Given the description of an element on the screen output the (x, y) to click on. 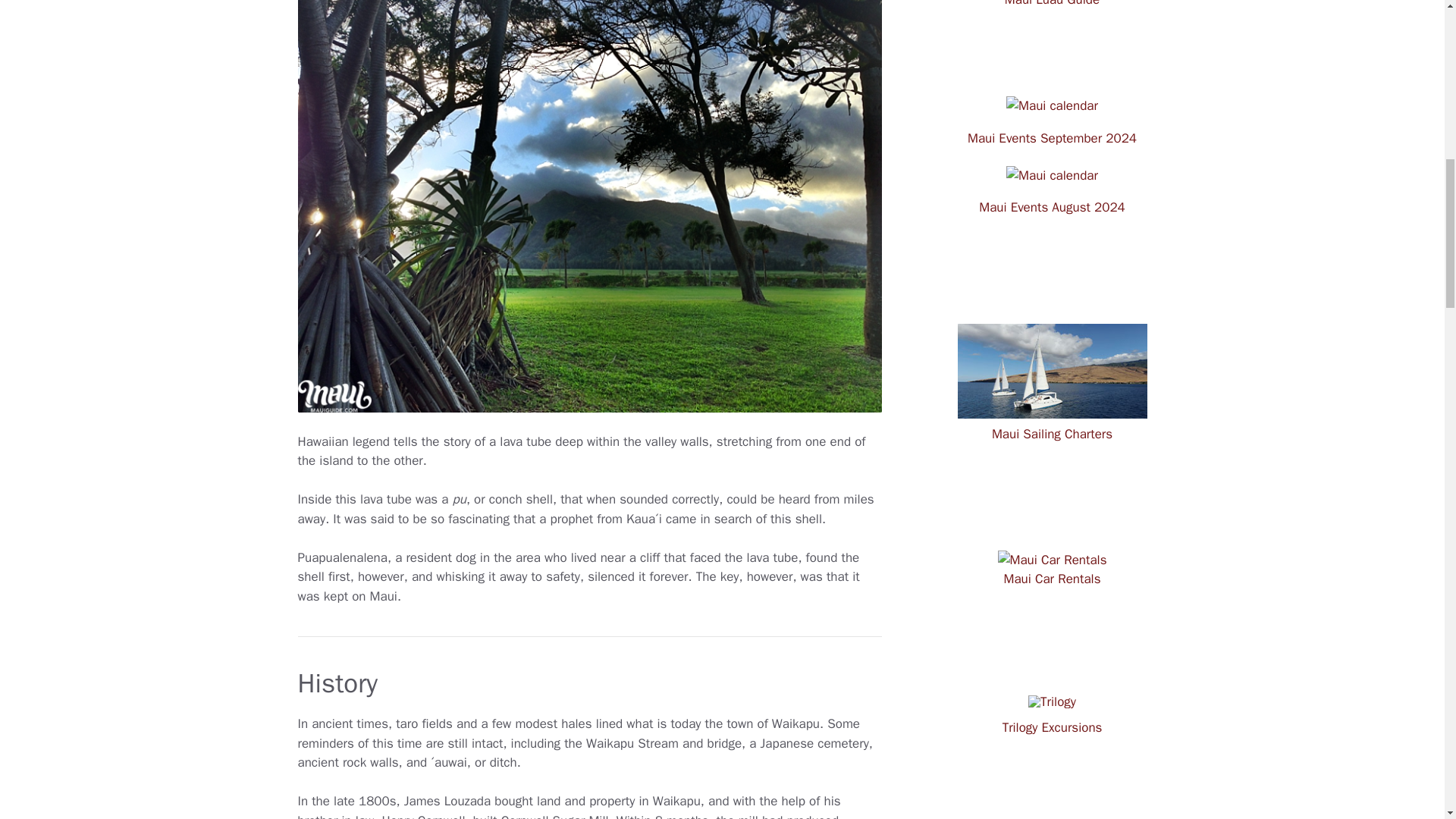
Maui Events August 2024 (1051, 207)
Maui Luau Guide (1051, 10)
Maui Sailing Charters (1051, 430)
Maui Events September 2024 (1052, 138)
